Given the description of an element on the screen output the (x, y) to click on. 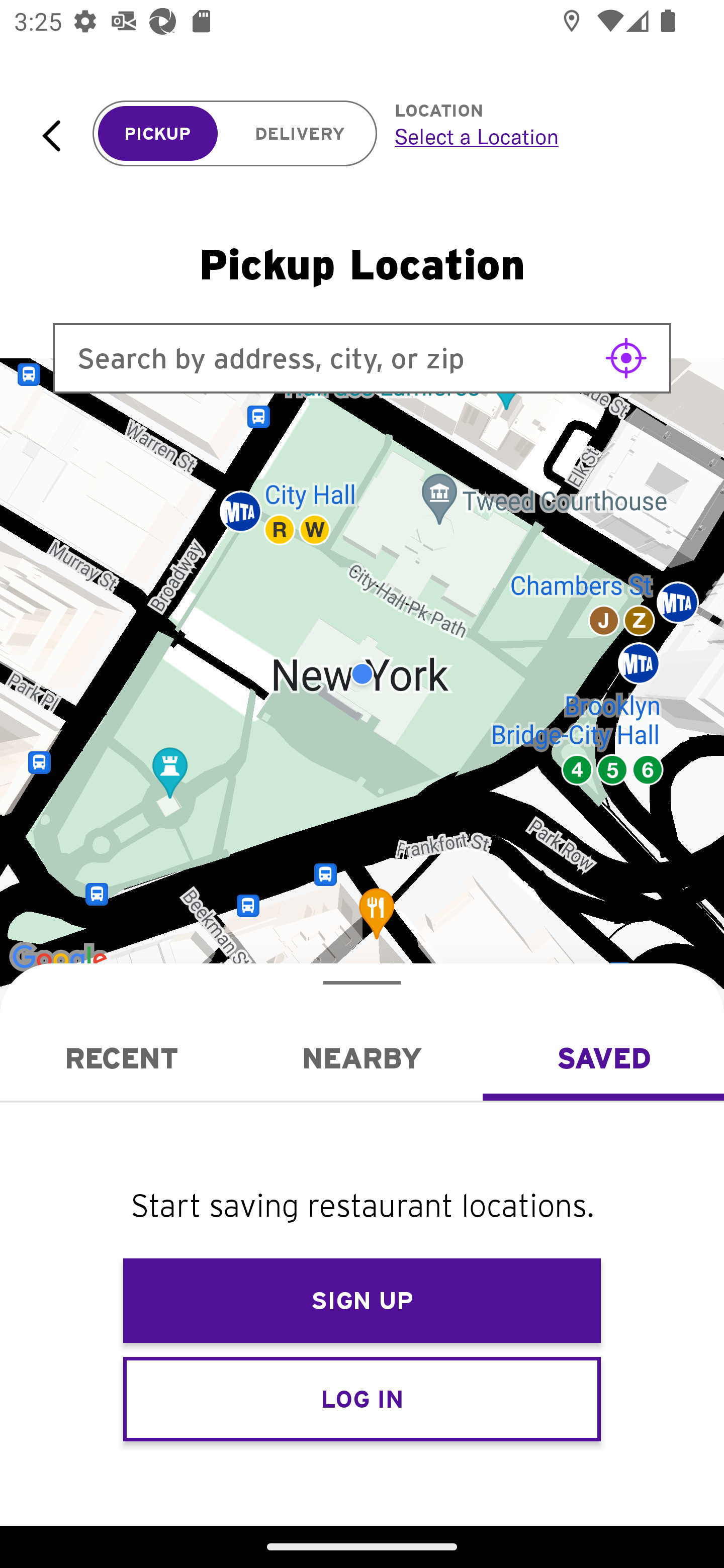
PICKUP (157, 133)
DELIVERY (299, 133)
Select a Location (536, 136)
Search by address, city, or zip (361, 358)
Google Map (362, 674)
Recent RECENT (120, 1058)
Nearby NEARBY (361, 1058)
SIGN UP (361, 1300)
LOG IN (361, 1398)
